Given the description of an element on the screen output the (x, y) to click on. 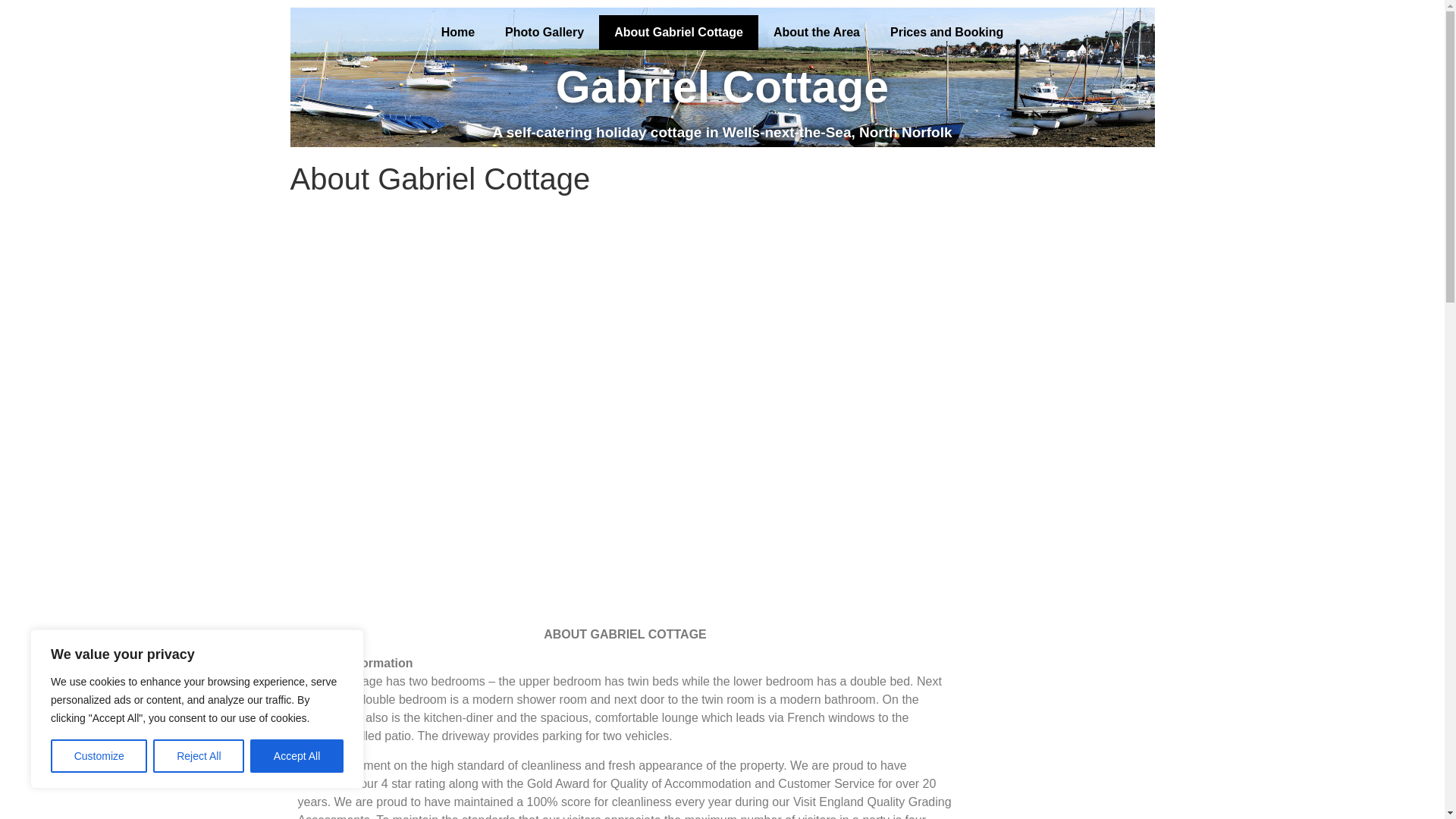
Home (457, 32)
Photo Gallery (543, 32)
About the Area (816, 32)
Customize (98, 756)
Accept All (296, 756)
Prices and Booking (946, 32)
Reject All (198, 756)
Gabriel Cottage (722, 87)
About Gabriel Cottage (678, 32)
